Given the description of an element on the screen output the (x, y) to click on. 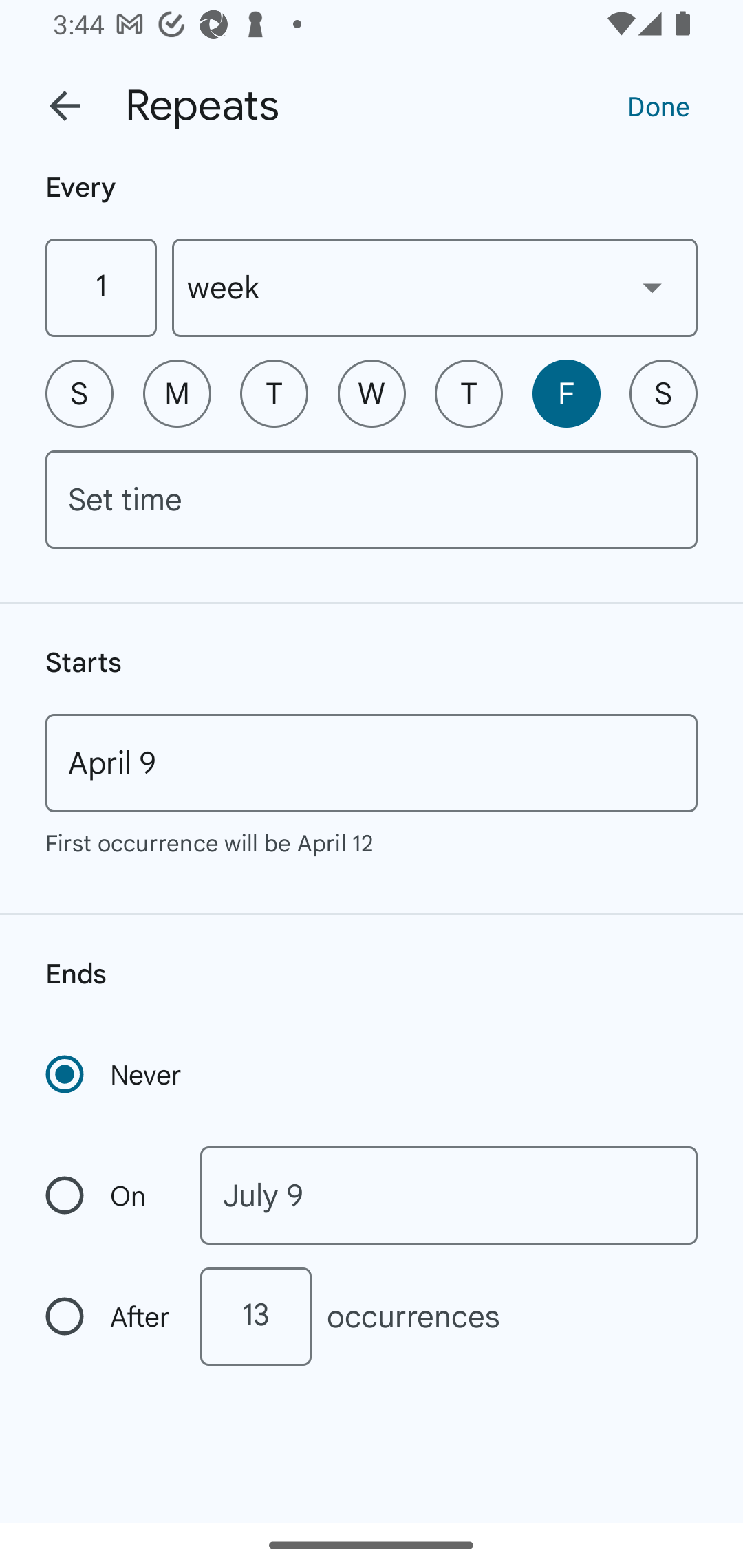
Back (64, 105)
Done (658, 105)
1 (100, 287)
week (434, 287)
Show dropdown menu (652, 286)
S Sunday (79, 393)
M Monday (177, 393)
T Tuesday (273, 393)
W Wednesday (371, 393)
T Thursday (468, 393)
F Friday, selected (566, 393)
S Saturday (663, 393)
Set time (371, 499)
April 9 (371, 762)
Never Recurrence never ends (115, 1074)
July 9 (448, 1195)
On Recurrence ends on a specific date (109, 1195)
13 (255, 1315)
